Given the description of an element on the screen output the (x, y) to click on. 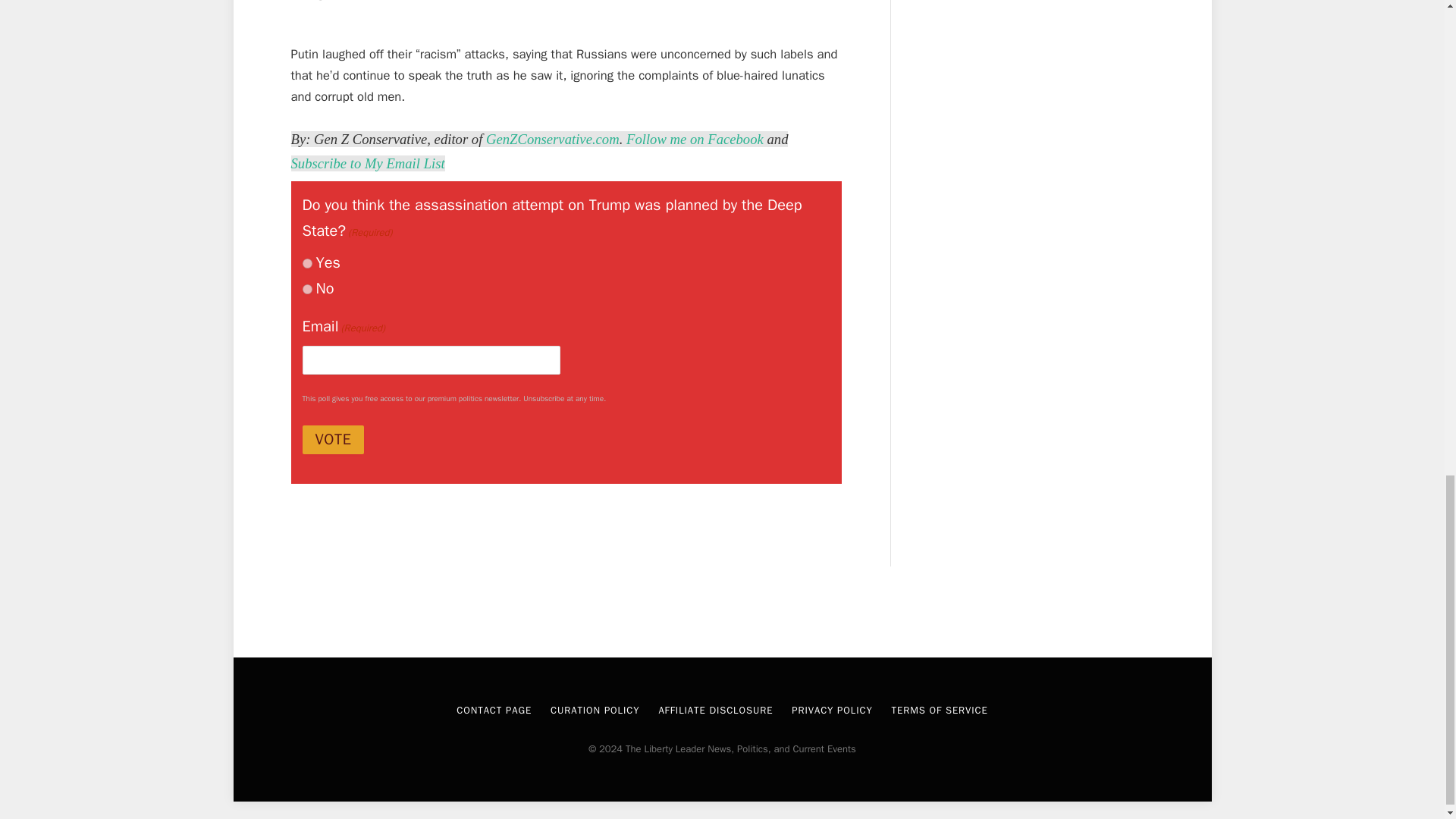
CURATION POLICY (594, 709)
gpoll1b5b3d8f6 (306, 263)
CONTACT PAGE (494, 709)
PRIVACY POLICY (832, 709)
AFFILIATE DISCLOSURE (715, 709)
VOTE (332, 439)
GenZConservative.com (553, 139)
Subscribe to My Email List (368, 163)
Follow me on Facebook (694, 139)
TERMS OF SERVICE (939, 709)
